Given the description of an element on the screen output the (x, y) to click on. 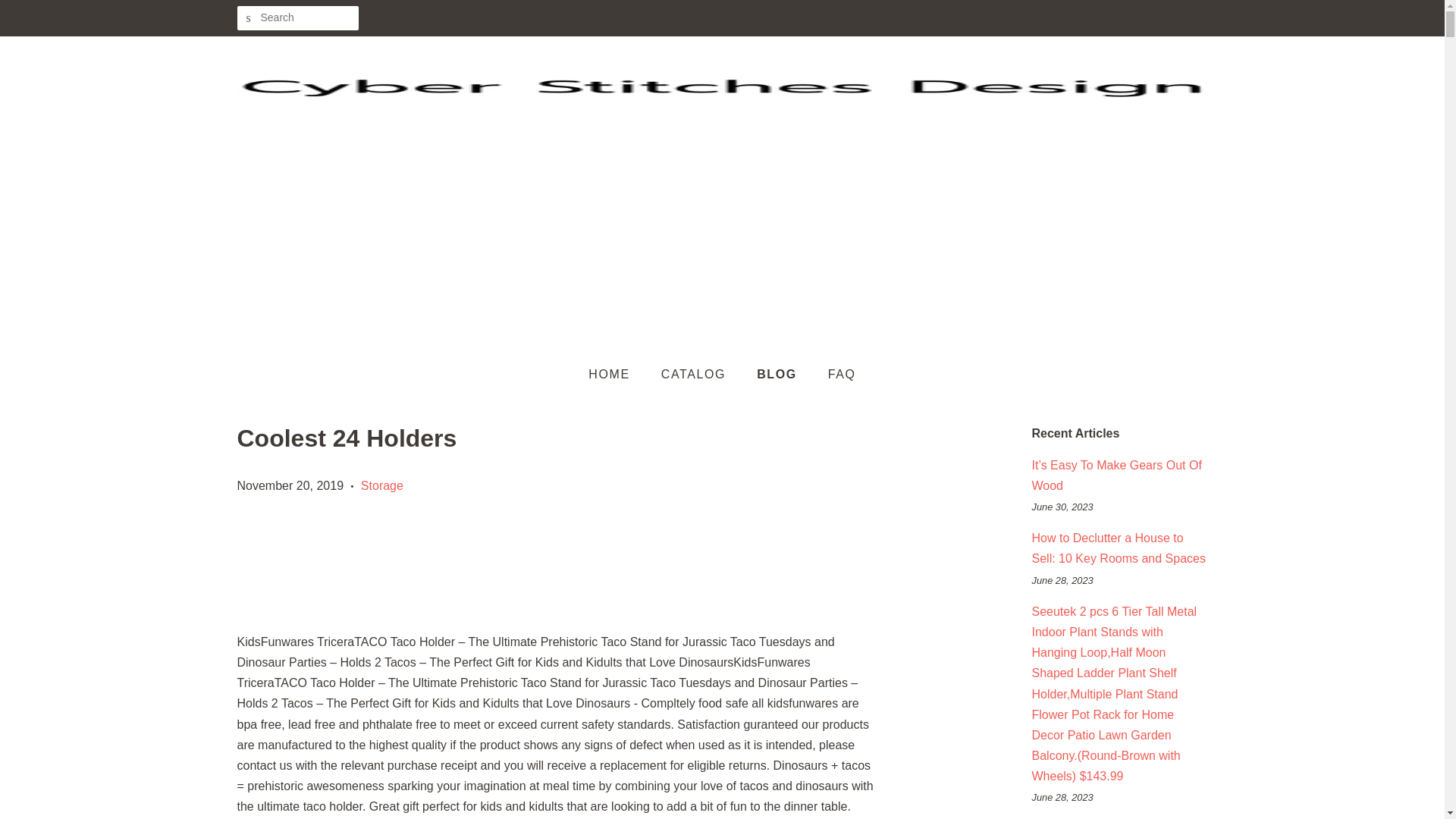
How to Declutter a House to Sell: 10 Key Rooms and Spaces (1117, 548)
BLOG (778, 373)
Storage (382, 485)
CATALOG (695, 373)
SEARCH (247, 18)
HOME (616, 373)
FAQ (836, 373)
